Given the description of an element on the screen output the (x, y) to click on. 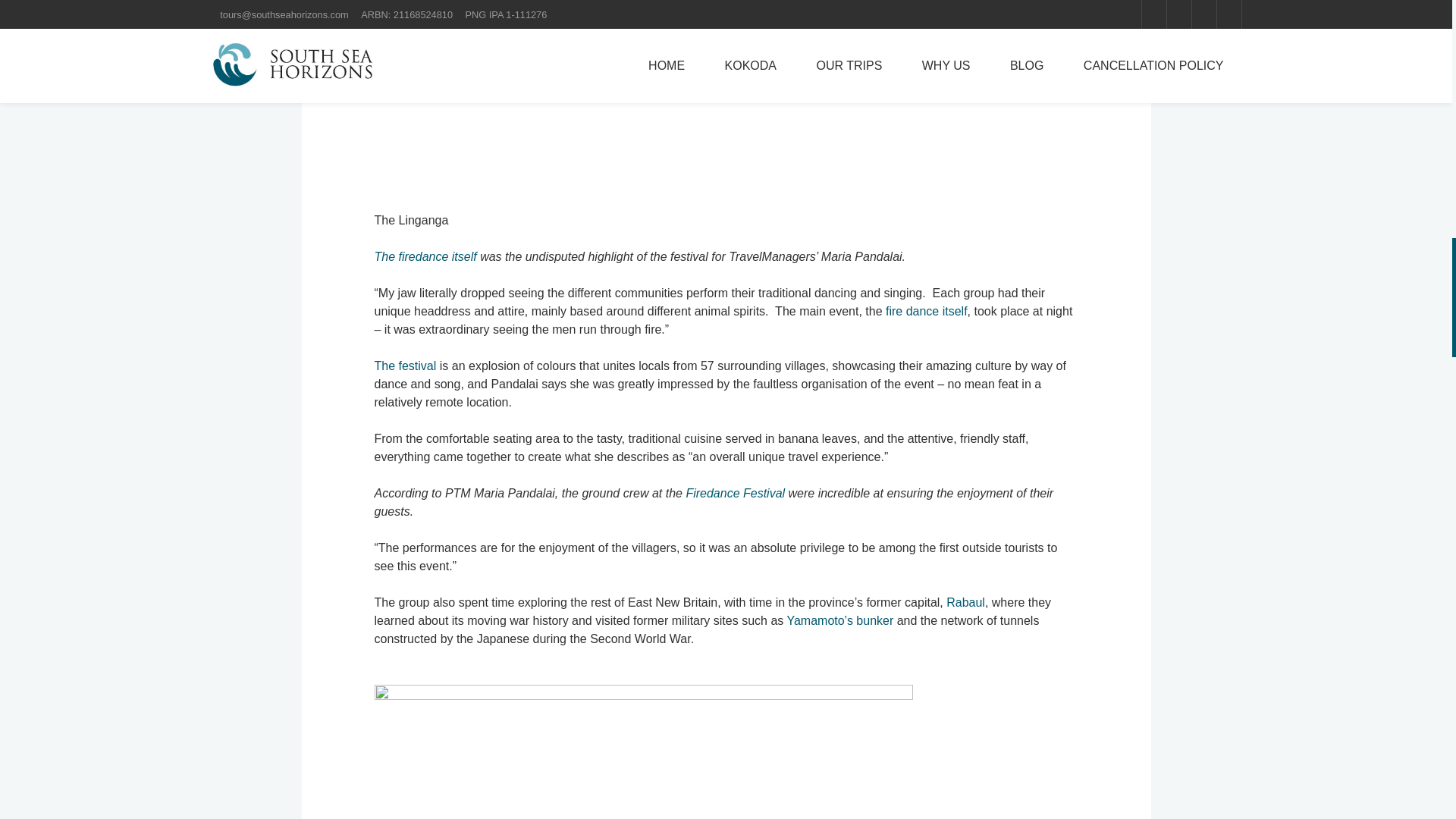
The firedance itself (425, 256)
The festival (405, 365)
fire dance itself (926, 310)
Rabaul (965, 602)
Firedance Festival (734, 492)
